Given the description of an element on the screen output the (x, y) to click on. 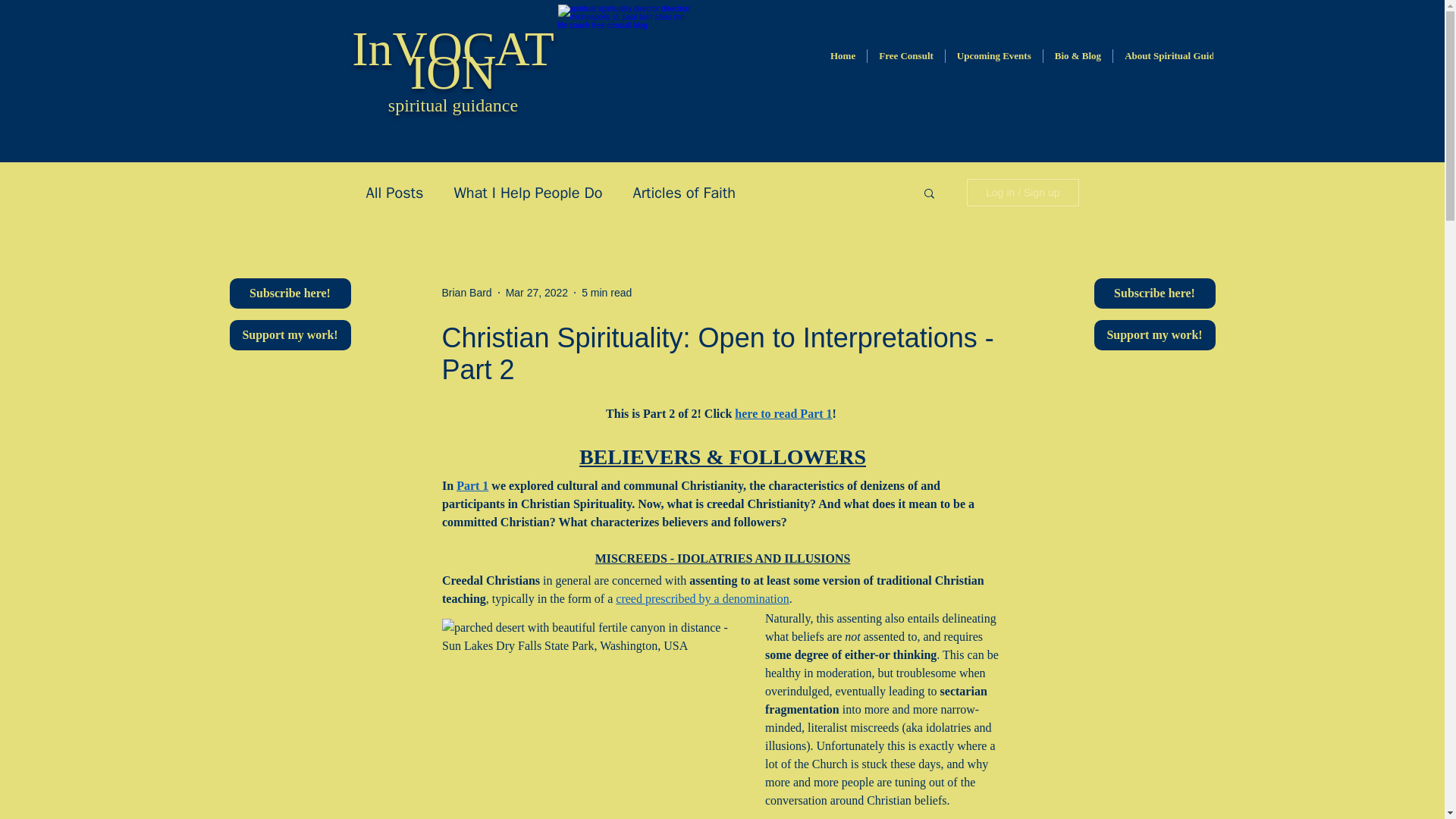
Upcoming Events (993, 64)
Support my work! (289, 335)
5 min read (605, 292)
here to read Part 1 (783, 413)
Brian Bard (466, 293)
Part 1 (472, 485)
Support my work! (1153, 335)
Mar 27, 2022 (537, 292)
Free Consult (905, 64)
Subscribe here! (1153, 293)
